Given the description of an element on the screen output the (x, y) to click on. 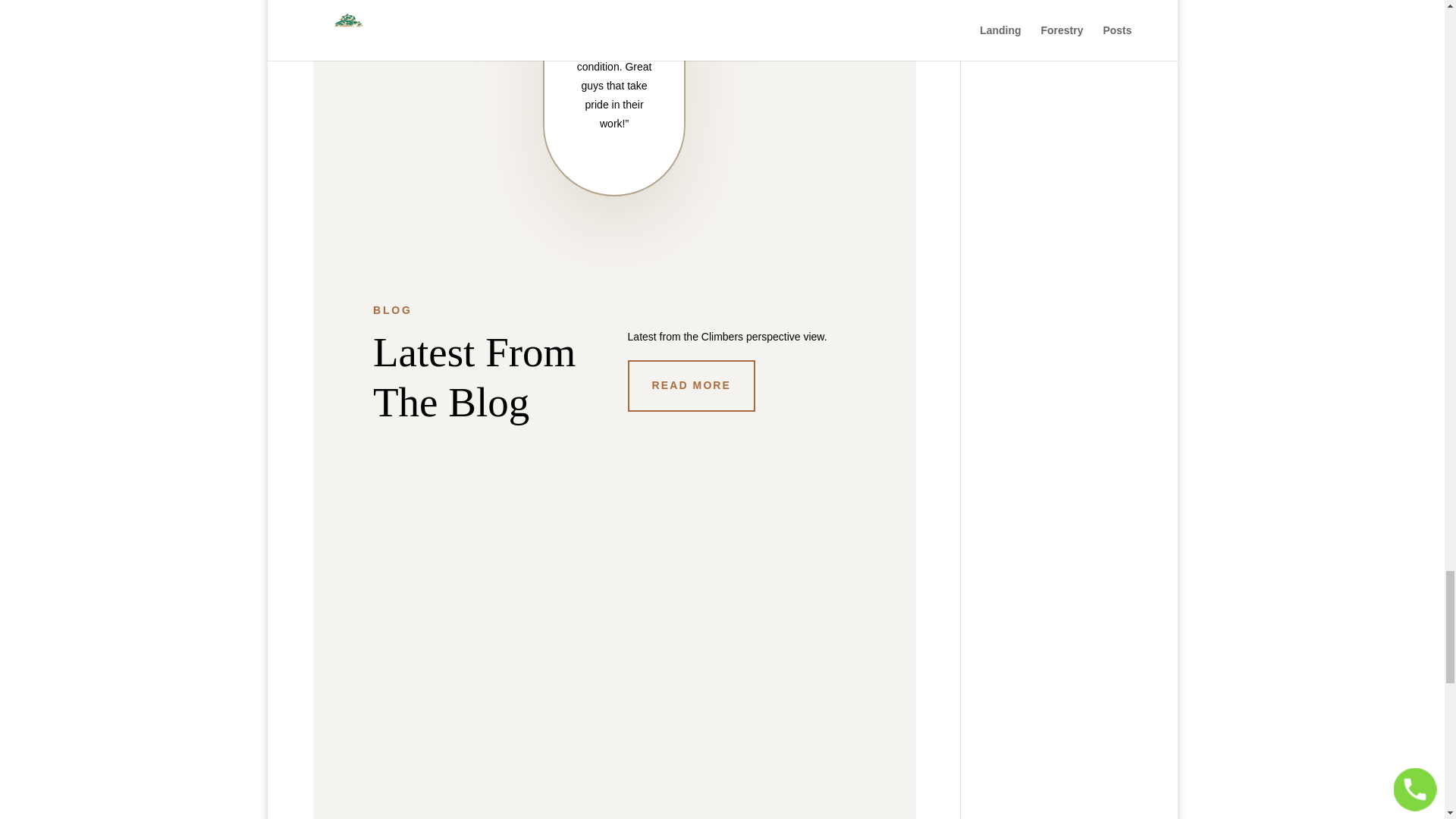
READ MORE (691, 385)
